Given the description of an element on the screen output the (x, y) to click on. 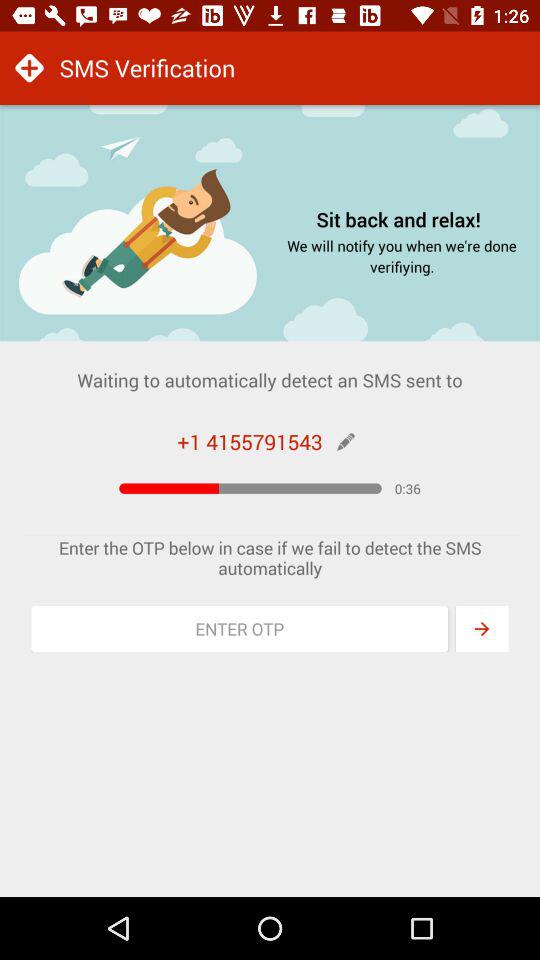
turn on item below the enter the otp (239, 629)
